Given the description of an element on the screen output the (x, y) to click on. 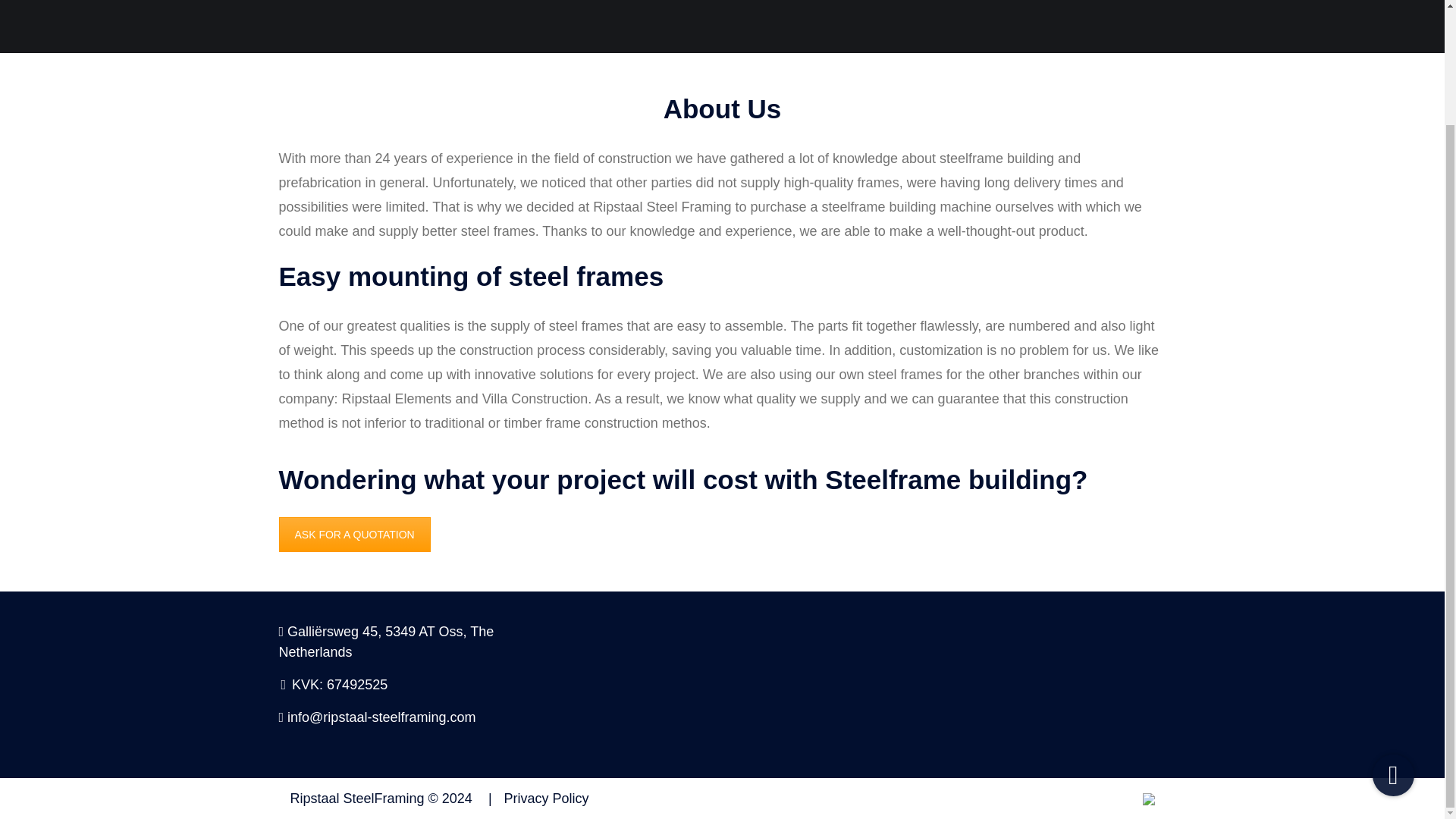
Privacy Policy (532, 798)
ASK FOR A QUOTATION (354, 534)
